Given the description of an element on the screen output the (x, y) to click on. 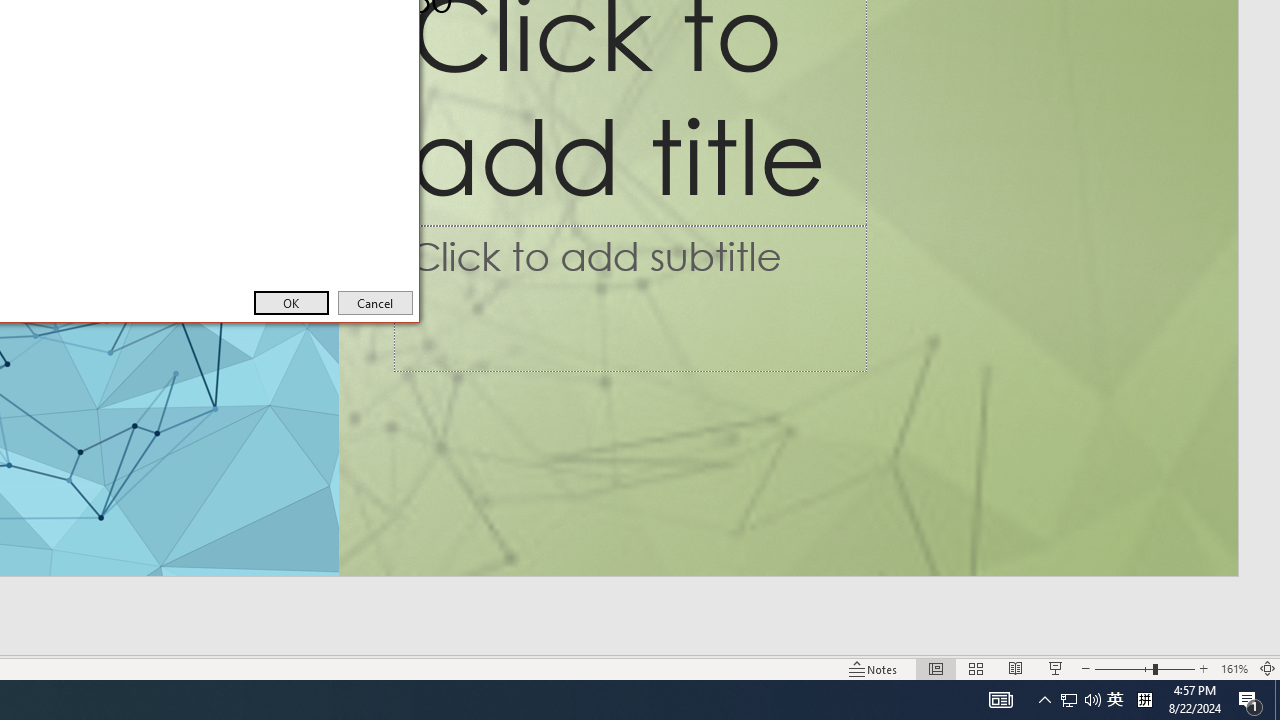
OK (290, 302)
